Given the description of an element on the screen output the (x, y) to click on. 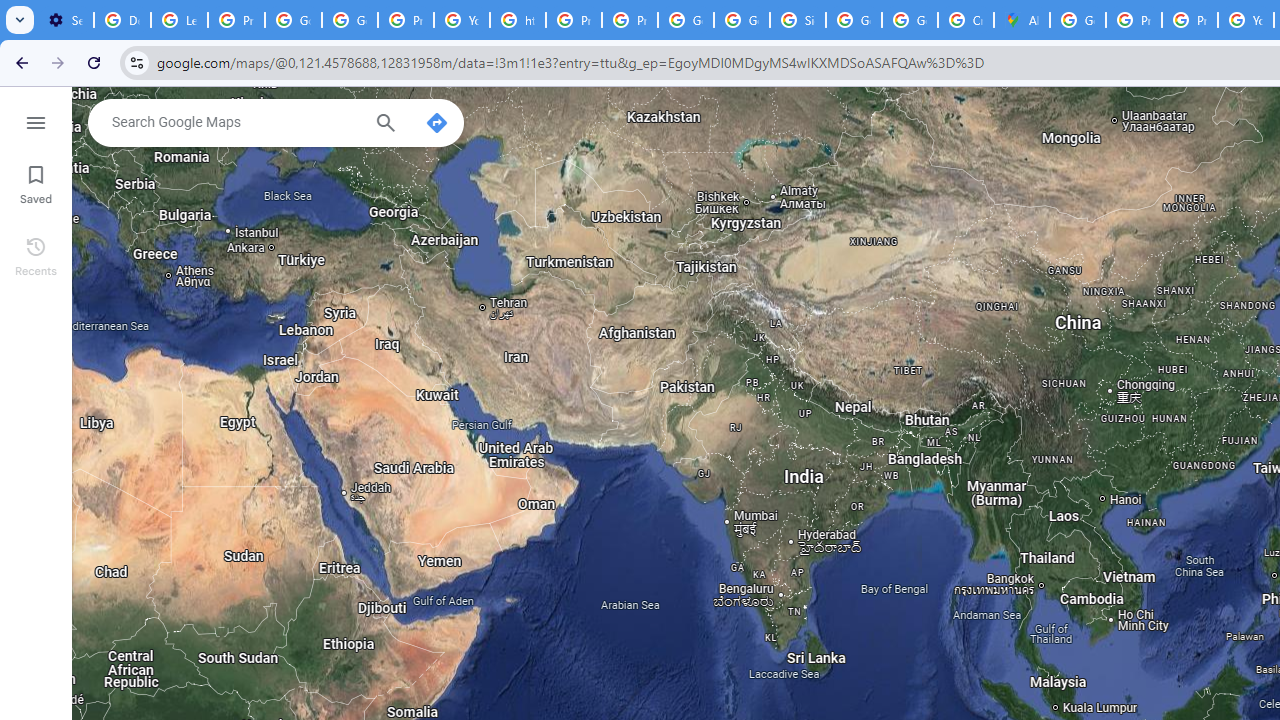
Menu (35, 120)
Settings - Performance (65, 20)
Privacy Help Center - Policies Help (573, 20)
YouTube (461, 20)
Saved (35, 182)
Search Google Maps (235, 121)
Google Account Help (293, 20)
Privacy Help Center - Policies Help (1133, 20)
Create your Google Account (966, 20)
